Given the description of an element on the screen output the (x, y) to click on. 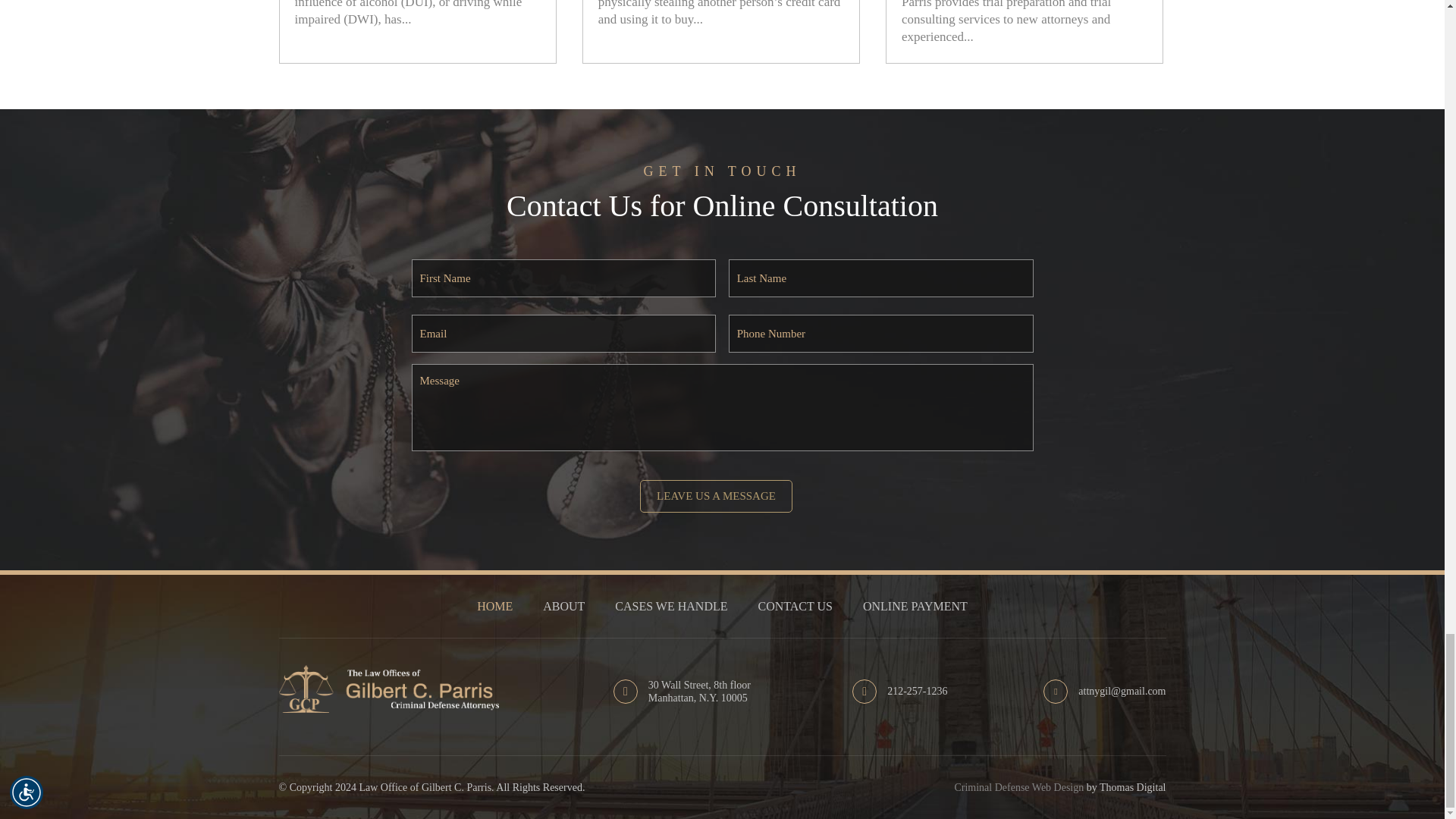
Leave us a message (716, 495)
